Given the description of an element on the screen output the (x, y) to click on. 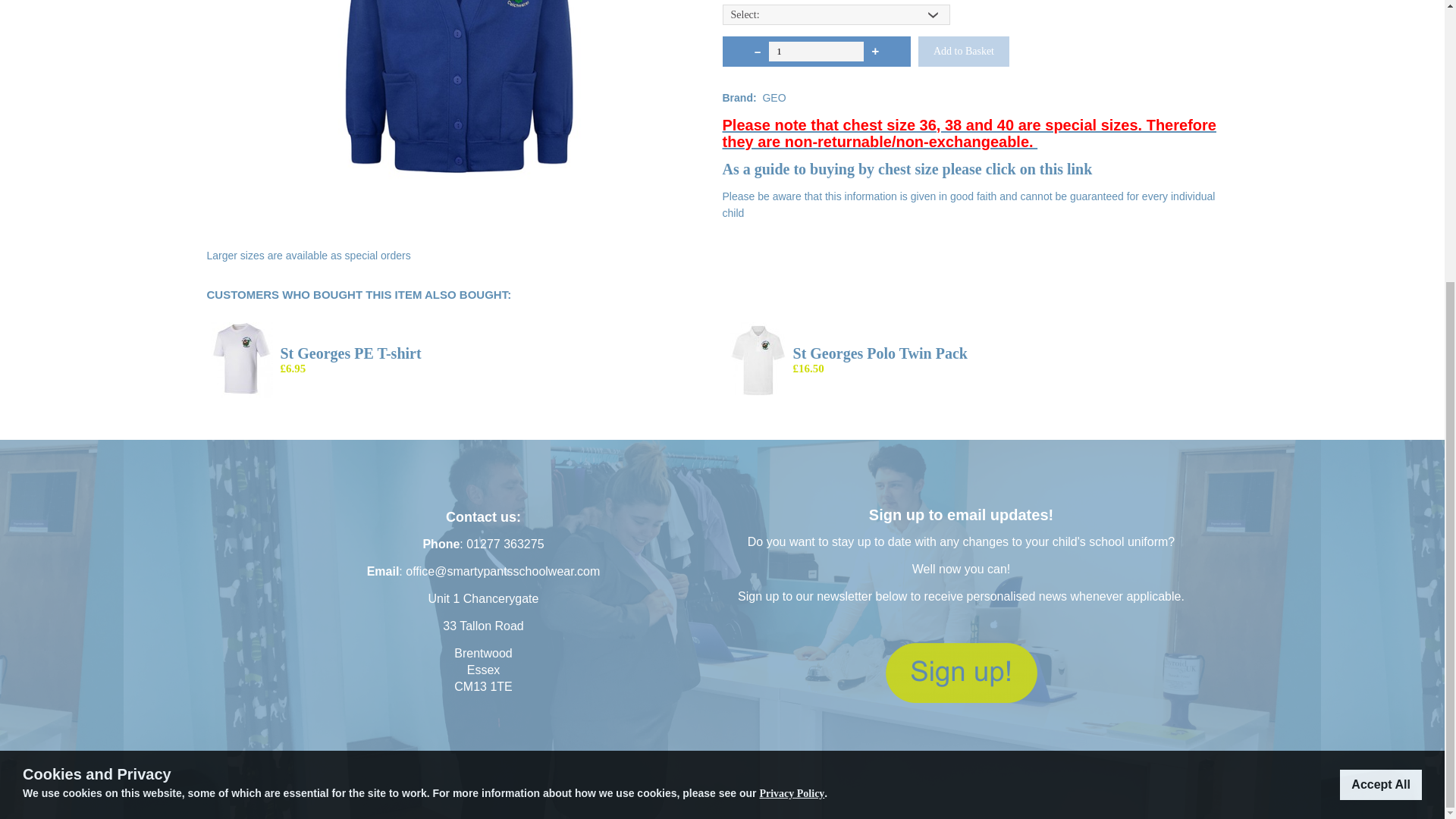
1 (815, 51)
Zoom (457, 89)
St Georges Polo Twin Pack (880, 352)
As a guide to buying by chest size please click on this link (907, 169)
Privacy Policy (791, 371)
St Georges PE T-shirt (351, 352)
Add to Basket (963, 51)
St Georges Sweat-Cardi (456, 89)
